Given the description of an element on the screen output the (x, y) to click on. 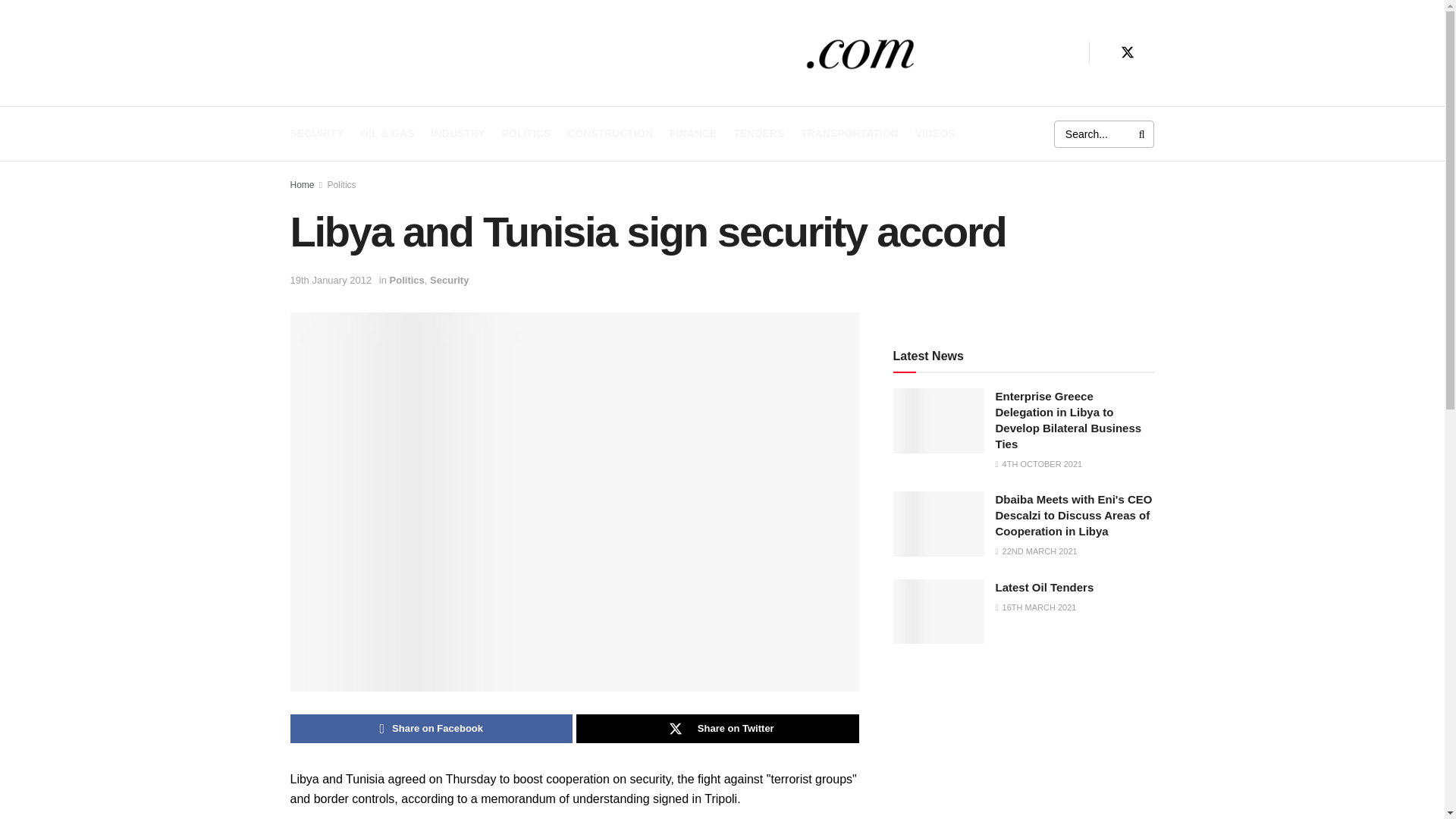
INDUSTRY (457, 133)
Share on Twitter (717, 728)
Politics (407, 279)
Home (301, 184)
Share on Facebook (430, 728)
CONSTRUCTION (609, 133)
Security (448, 279)
Politics (341, 184)
TENDERS (758, 133)
SECURITY (316, 133)
